Given the description of an element on the screen output the (x, y) to click on. 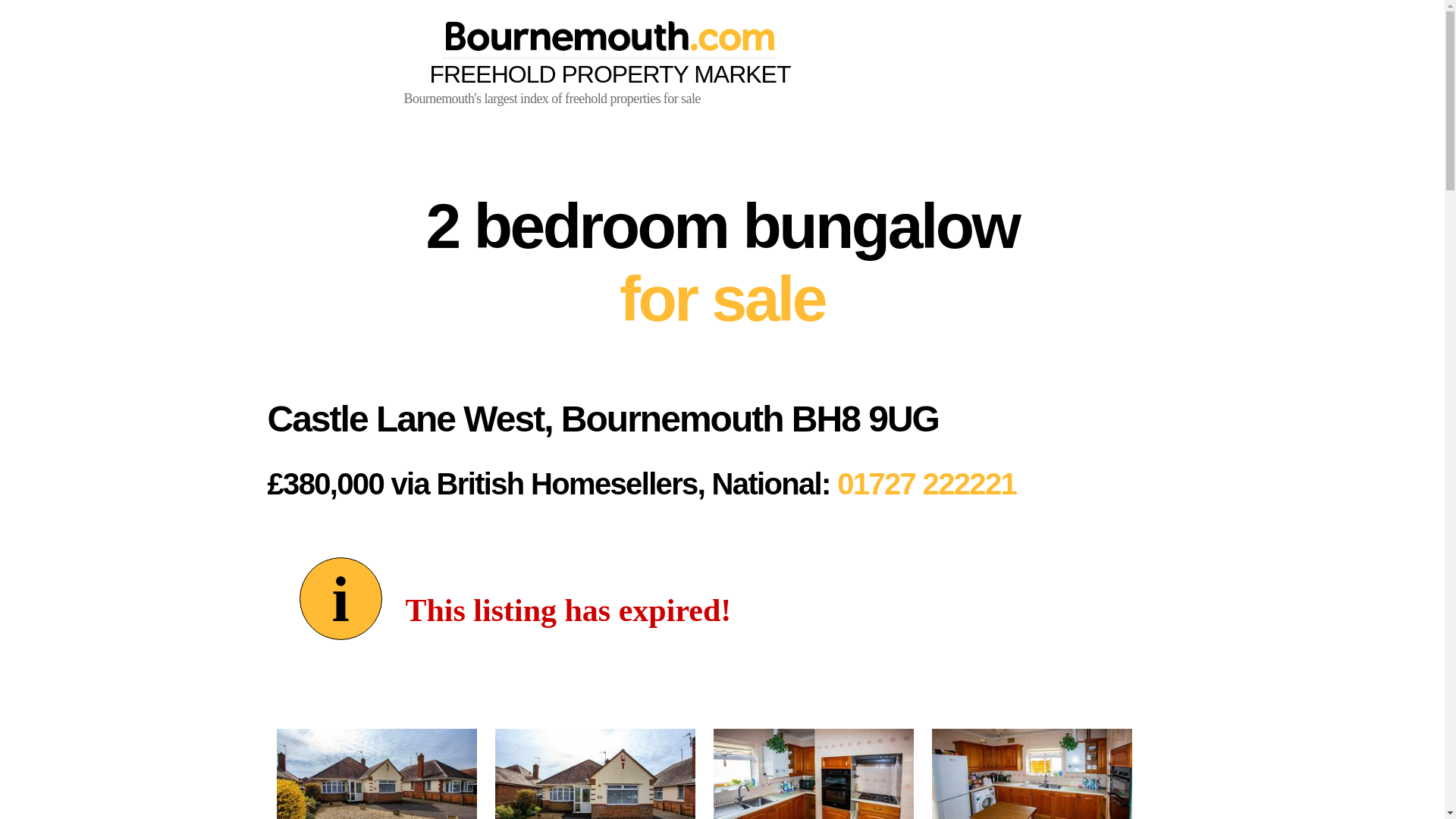
FREEHOLD PROPERTY MARKET (609, 53)
